Given the description of an element on the screen output the (x, y) to click on. 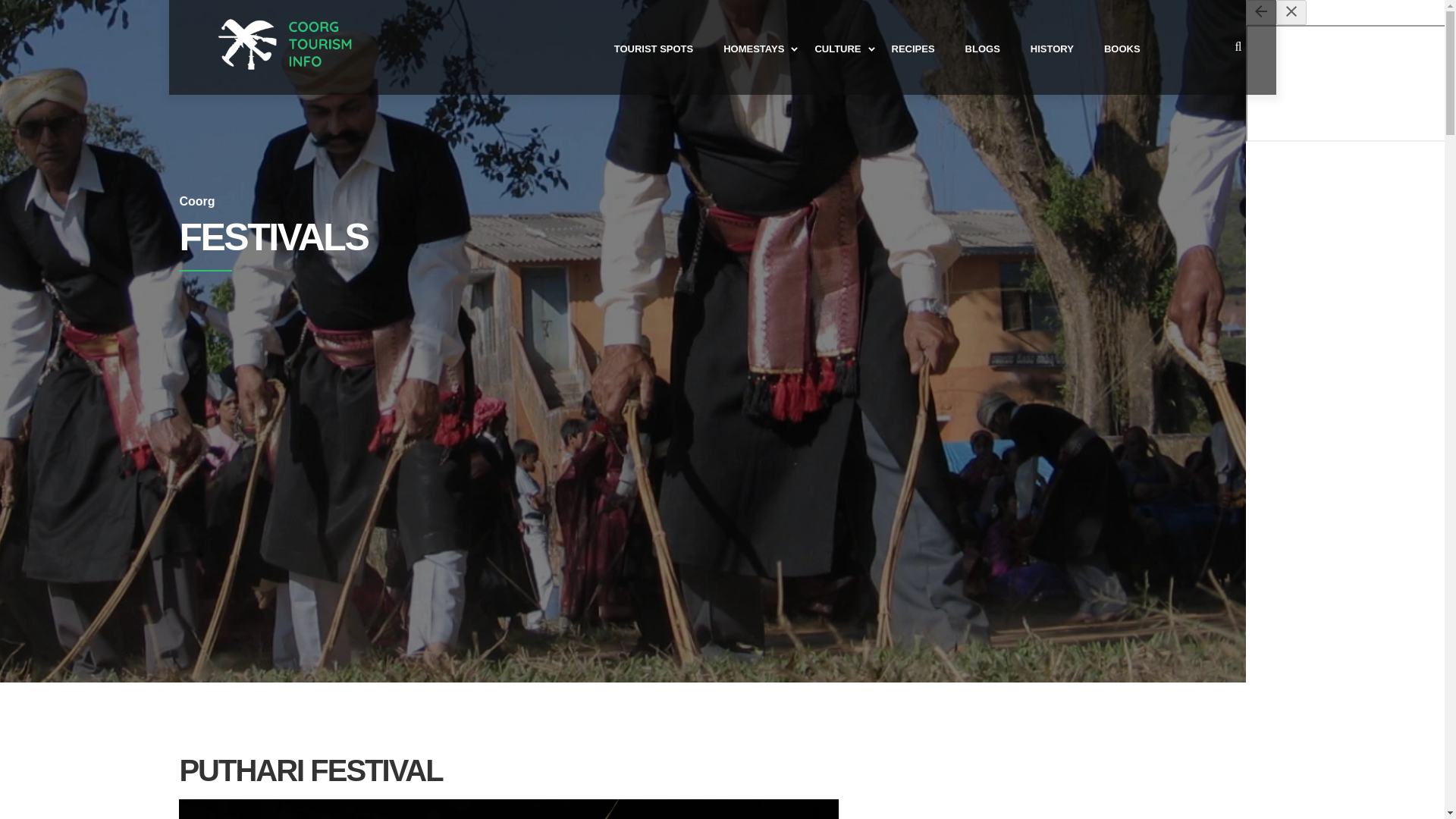
HOMESTAYS (753, 47)
TOURIST SPOTS (654, 47)
